Given the description of an element on the screen output the (x, y) to click on. 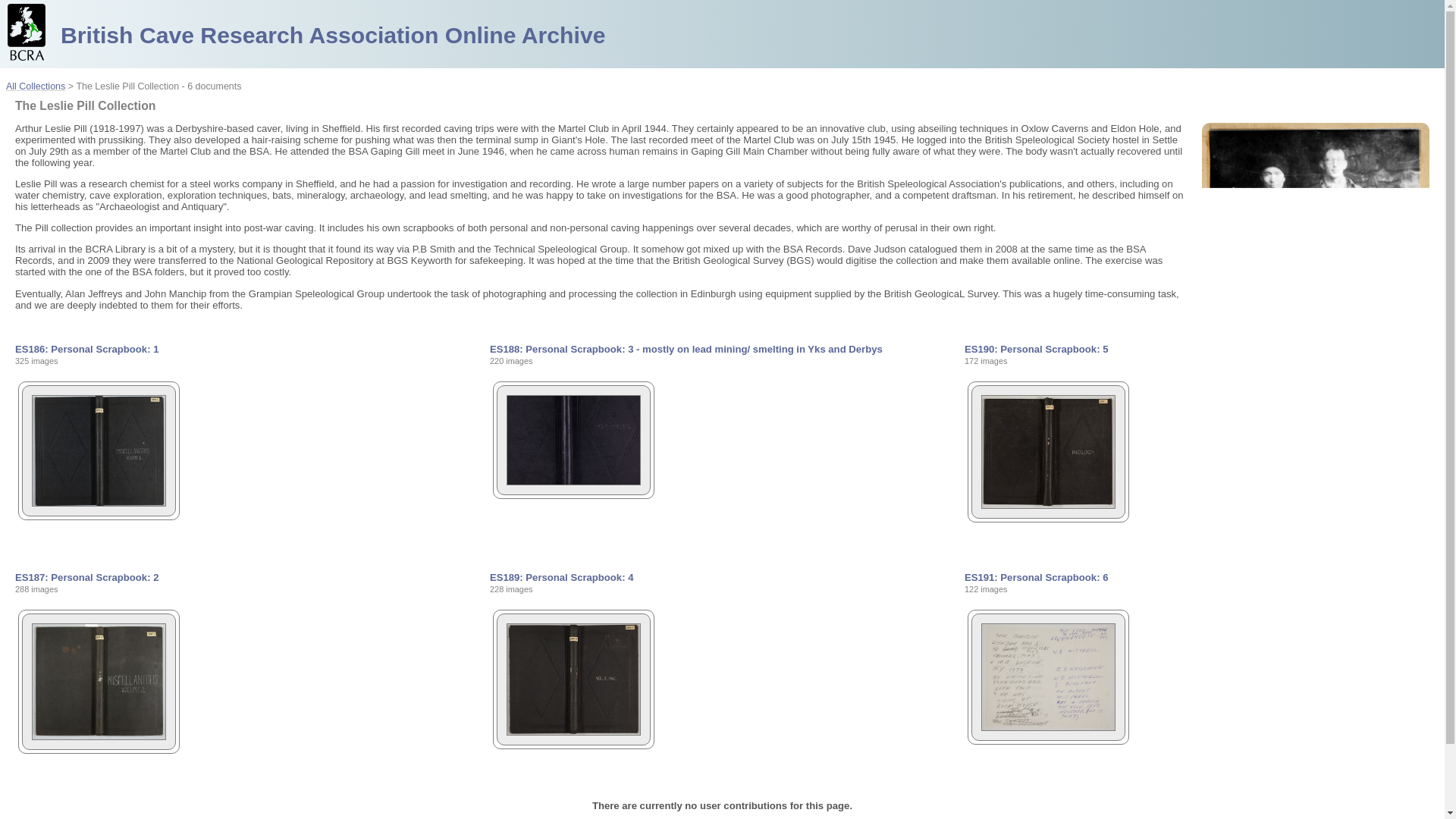
Link to 'ES191: Personal Scrapbook: 6' volume (1035, 577)
ES189: Personal Scrapbook: 4 (561, 577)
Image link to 'ES190: Personal Scrapbook: 5' volume (1043, 505)
Link to 'ES186: Personal Scrapbook: 1' volume (86, 348)
Link to 'ES189: Personal Scrapbook: 4' volume (561, 577)
Image link to 'ES187: Personal Scrapbook: 2' volume (94, 736)
ES190: Personal Scrapbook: 5 (1035, 348)
ES191: Personal Scrapbook: 6 (1035, 577)
ES186: Personal Scrapbook: 1 (86, 348)
Link to 'ES190: Personal Scrapbook: 5' volume (1035, 348)
Image link to 'ES191: Personal Scrapbook: 6' volume (1043, 727)
Image link to 'ES186: Personal Scrapbook: 1' volume (94, 502)
All Collections (35, 86)
Image link to 'ES189: Personal Scrapbook: 4' volume (568, 731)
